Given the description of an element on the screen output the (x, y) to click on. 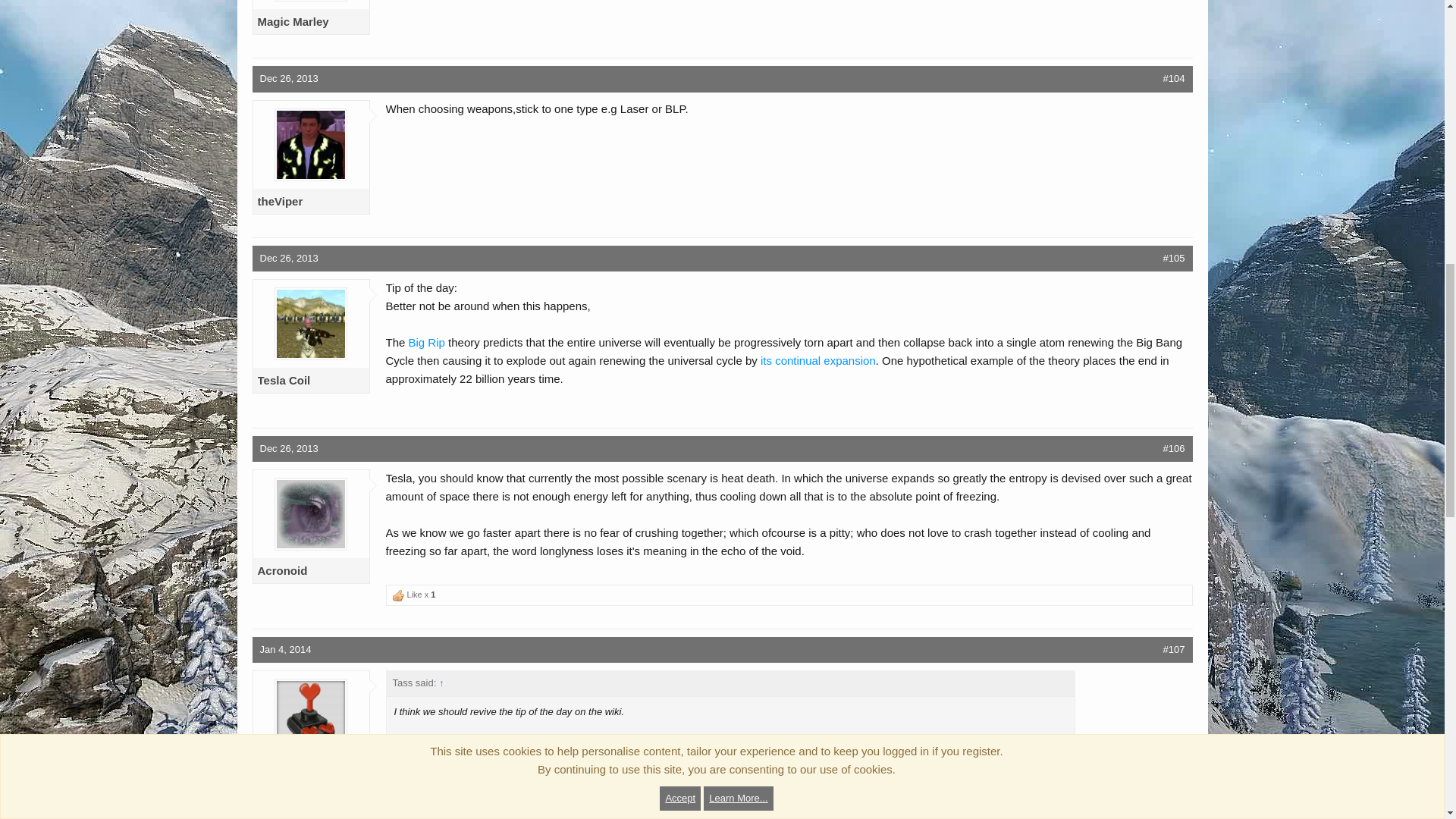
Permalink (288, 78)
Permalink (1174, 78)
